Given the description of an element on the screen output the (x, y) to click on. 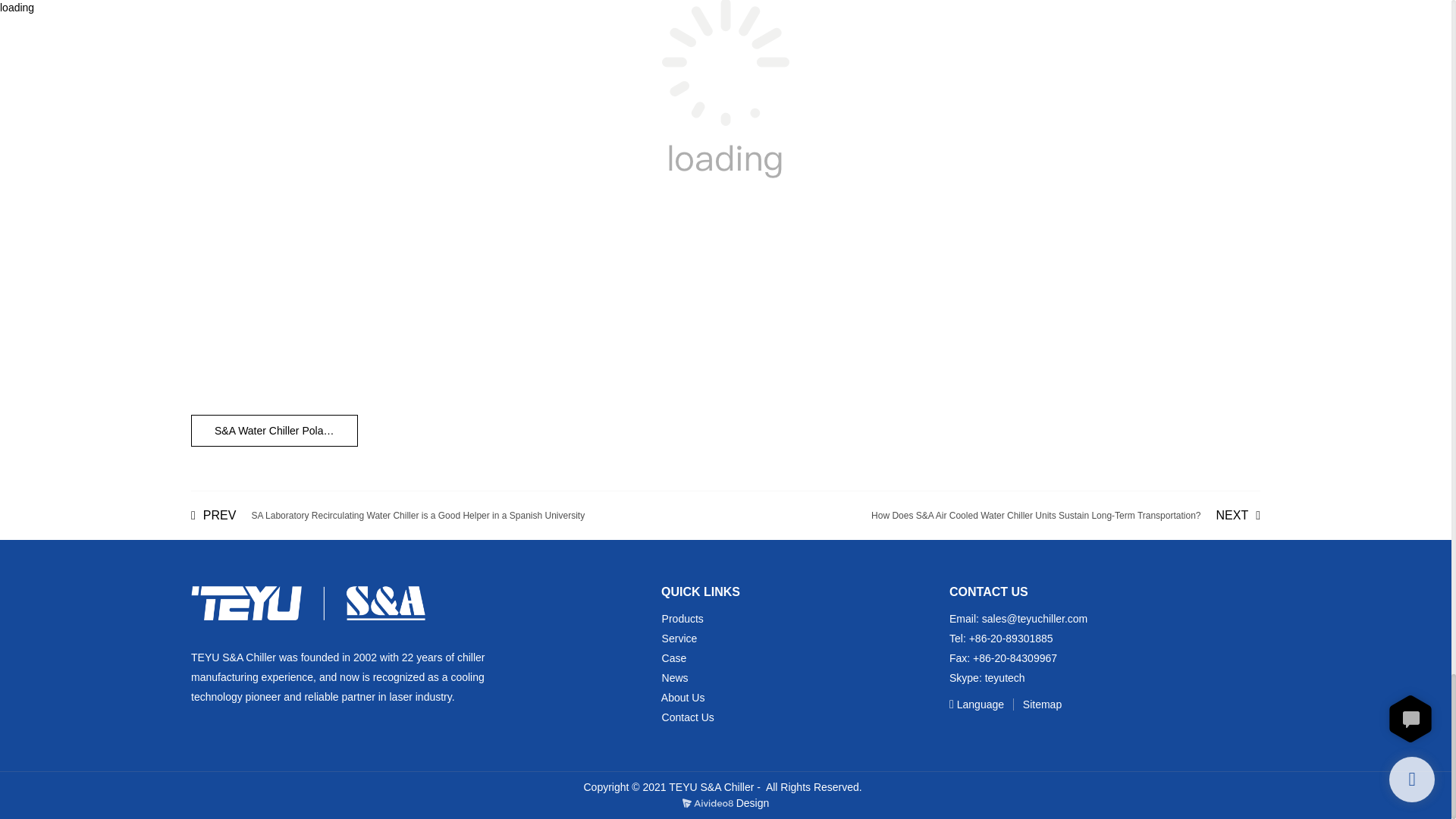
Language (978, 703)
Service (679, 638)
Contact Us (688, 717)
News (675, 677)
Sitemap (1034, 703)
Case (674, 657)
About Us (682, 697)
Products (682, 618)
